Given the description of an element on the screen output the (x, y) to click on. 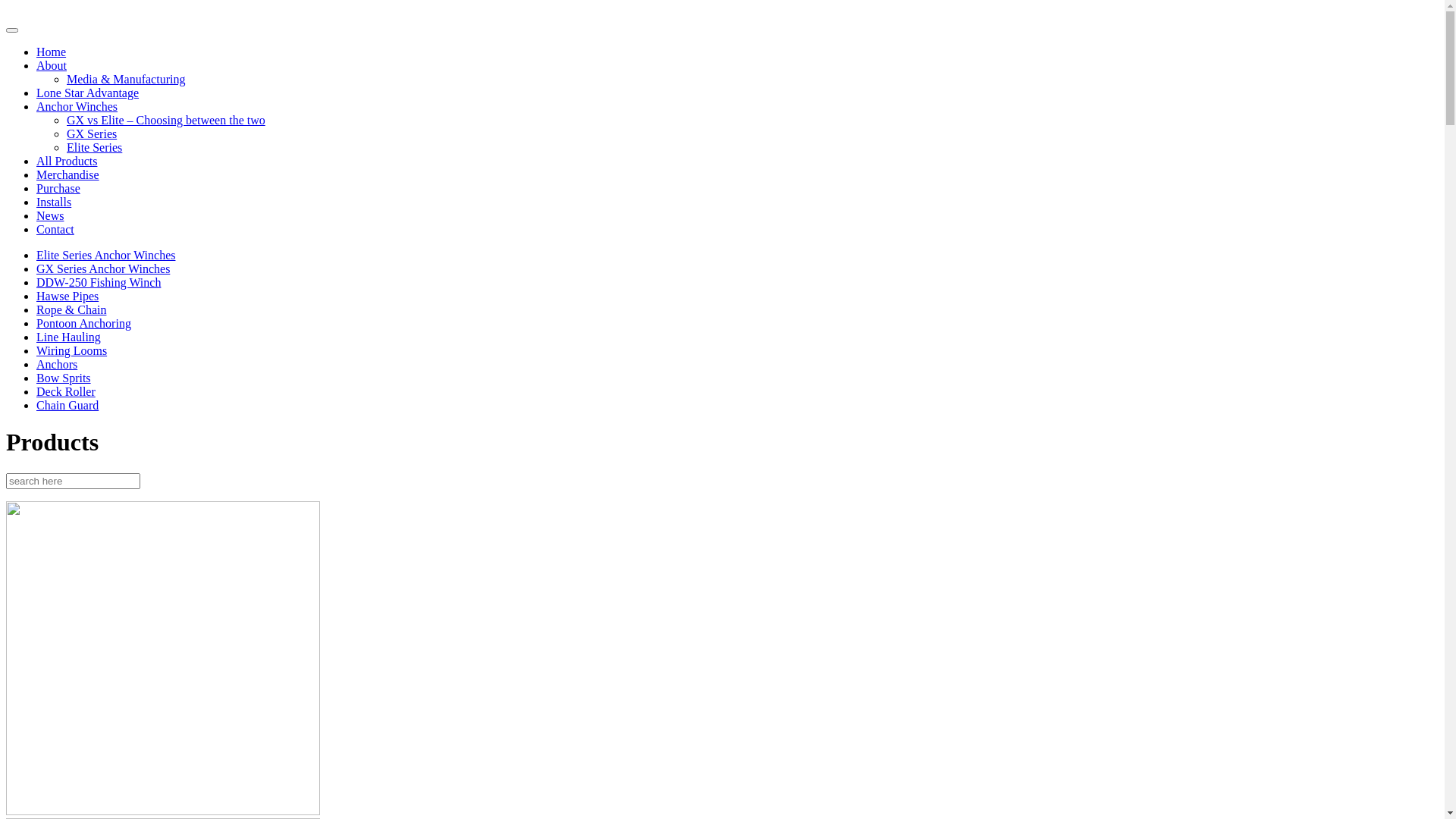
Wiring Looms Element type: text (71, 350)
About Element type: text (51, 65)
All Products Element type: text (66, 160)
Elite Series Anchor Winches Element type: text (105, 254)
Anchors Element type: text (56, 363)
Elite Series Element type: text (94, 147)
Rope & Chain Element type: text (71, 309)
GX Series Element type: text (91, 133)
Lone Star Advantage Element type: text (87, 92)
Deck Roller Element type: text (65, 391)
Chain Guard Element type: text (67, 404)
GX Series Anchor Winches Element type: text (102, 268)
Pontoon Anchoring Element type: text (83, 322)
Anchor Winches Element type: text (76, 106)
Line Hauling Element type: text (68, 336)
Purchase Element type: text (58, 188)
Media & Manufacturing Element type: text (125, 78)
gx4_3_900 Element type: hover (163, 810)
Contact Element type: text (55, 228)
Home Element type: text (50, 51)
News Element type: text (49, 215)
DDW-250 Fishing Winch Element type: text (98, 282)
Merchandise Element type: text (67, 174)
Bow Sprits Element type: text (63, 377)
Installs Element type: text (53, 201)
Hawse Pipes Element type: text (67, 295)
